Given the description of an element on the screen output the (x, y) to click on. 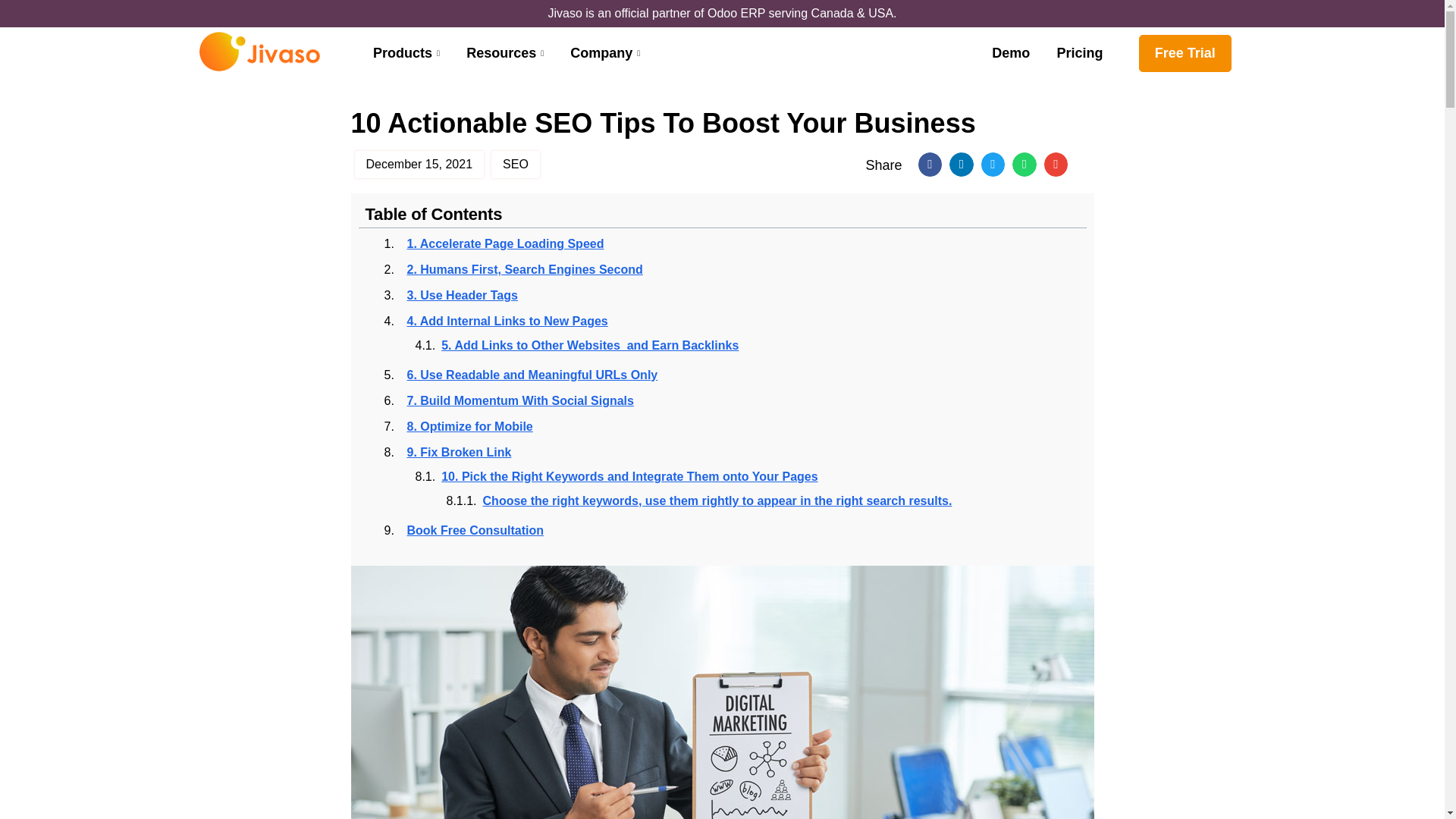
Products (407, 52)
Company (607, 52)
Free Trial (1184, 53)
SEO (515, 164)
Resources (506, 52)
1. Accelerate Page Loading Speed (505, 244)
Pricing (1079, 53)
Demo (1010, 53)
